Given the description of an element on the screen output the (x, y) to click on. 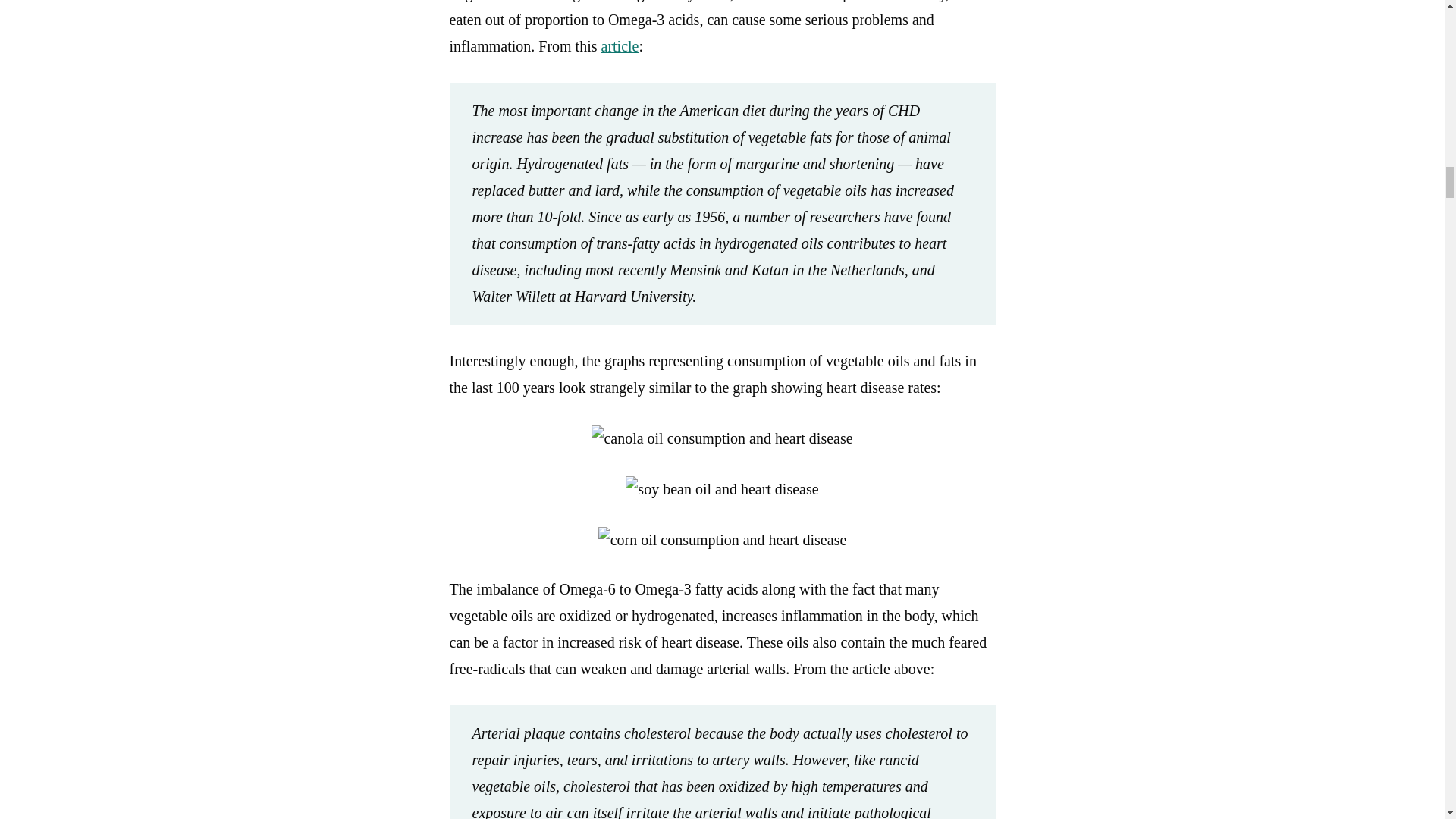
corn oil consumption and heart disease (722, 540)
canola oil consumption and heart disease (721, 438)
article (619, 45)
soy bean oil and heart disease (722, 488)
